Given the description of an element on the screen output the (x, y) to click on. 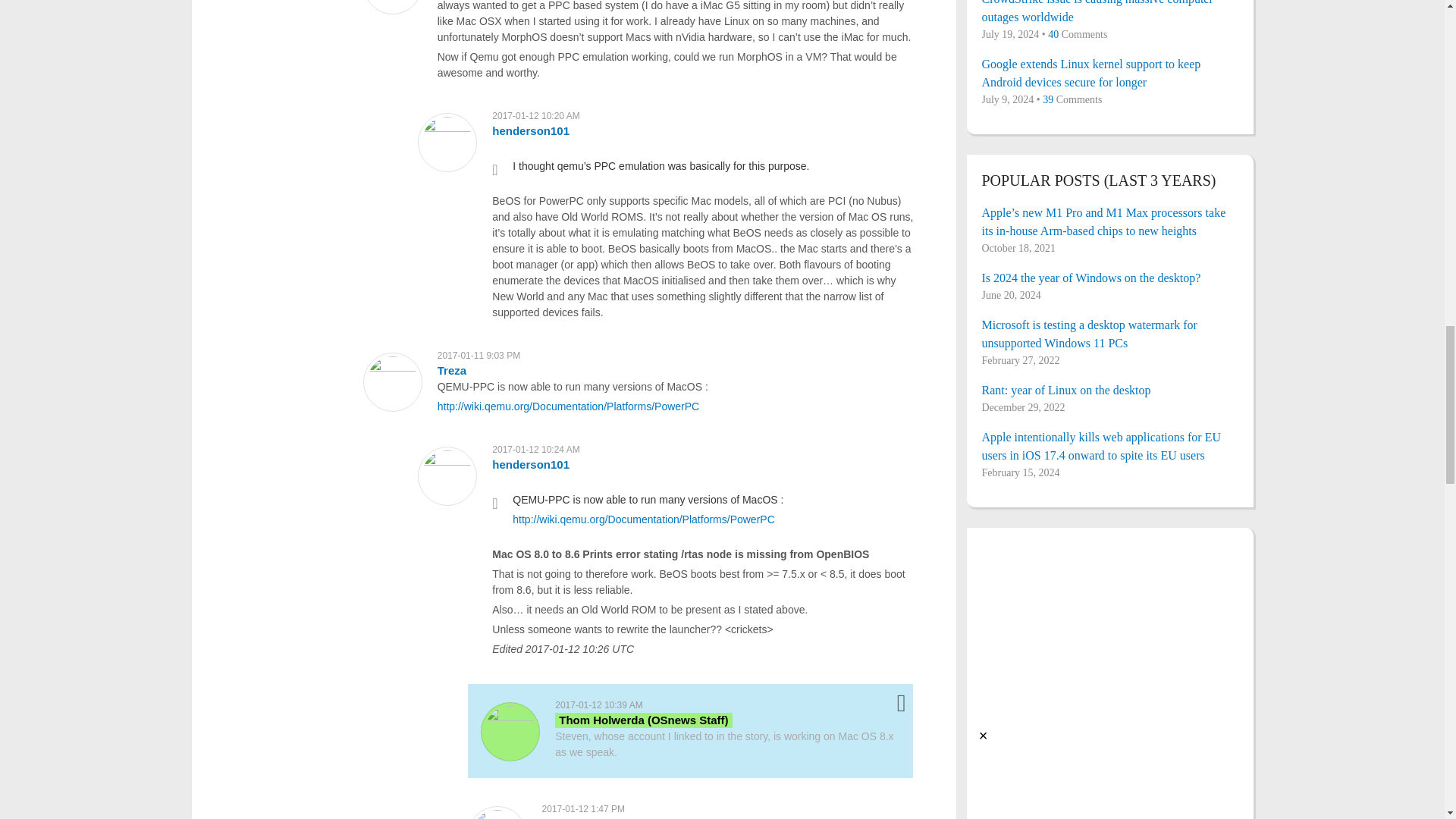
Thom Holwerda (643, 719)
henderson101 (530, 130)
henderson101 (580, 818)
henderson101 (530, 463)
Treza (451, 369)
